Given the description of an element on the screen output the (x, y) to click on. 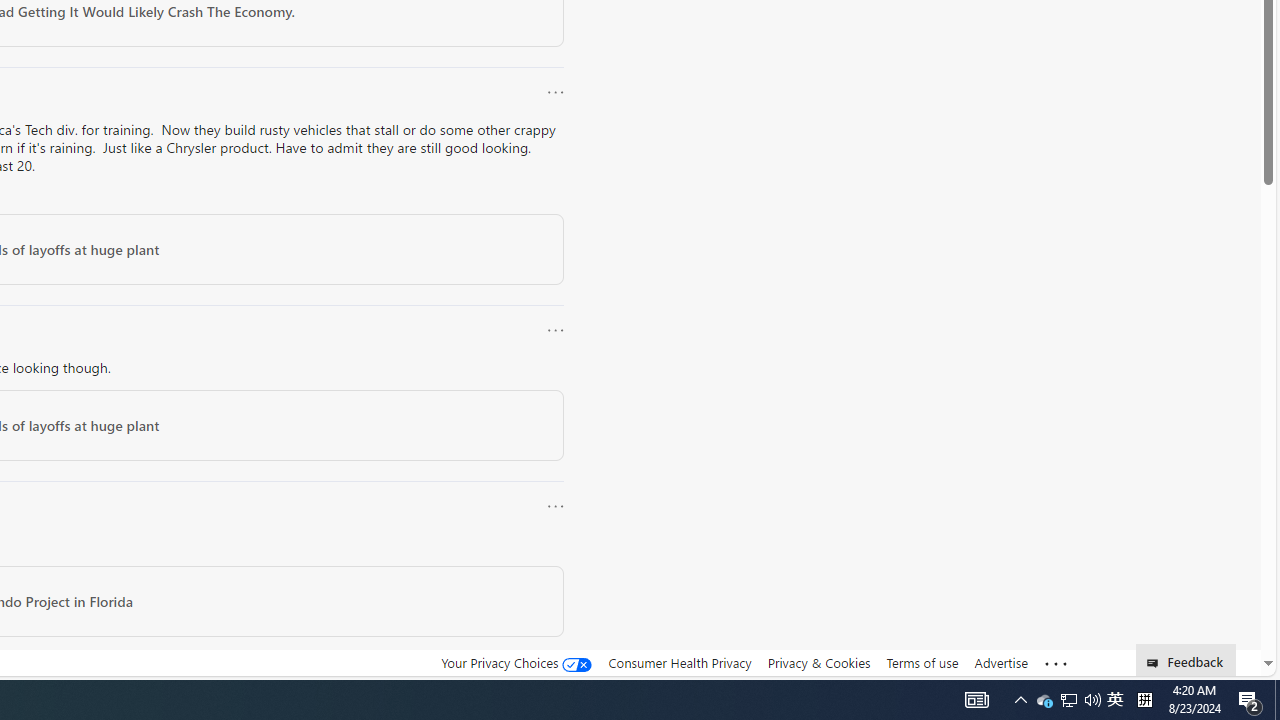
Class: oneFooter_seeMore-DS-EntryPoint1-1 (1055, 663)
Your Privacy Choices (516, 662)
Your Privacy Choices (516, 663)
Class: feedback_link_icon-DS-EntryPoint1-1 (1156, 663)
